Given the description of an element on the screen output the (x, y) to click on. 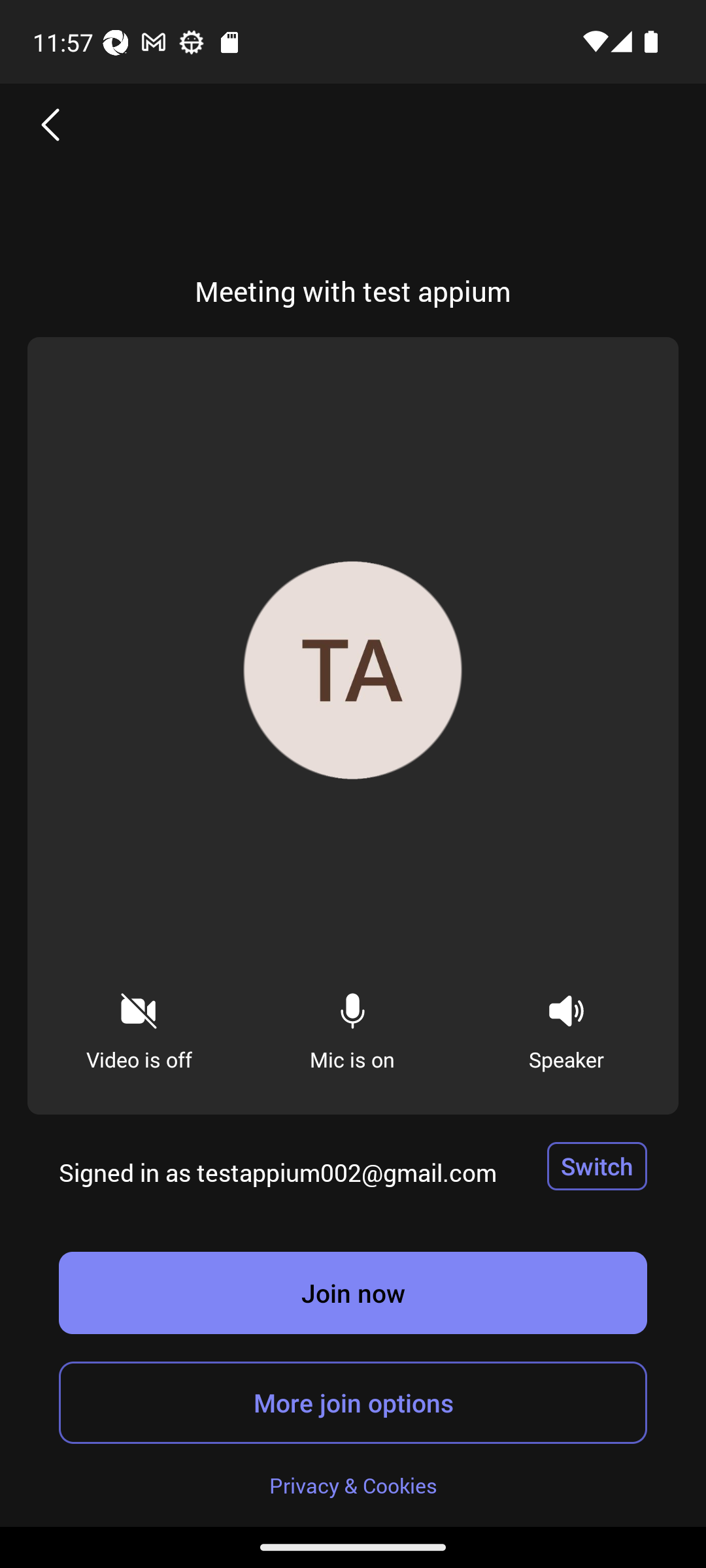
Back (51, 124)
Video is off (138, 1025)
Mic unmuted Mic is on (352, 1025)
Audio Speaker Audio Speaker (566, 1025)
Switch (597, 1165)
Join now (352, 1292)
More join options (352, 1402)
Privacy & Cookies (352, 1484)
